Given the description of an element on the screen output the (x, y) to click on. 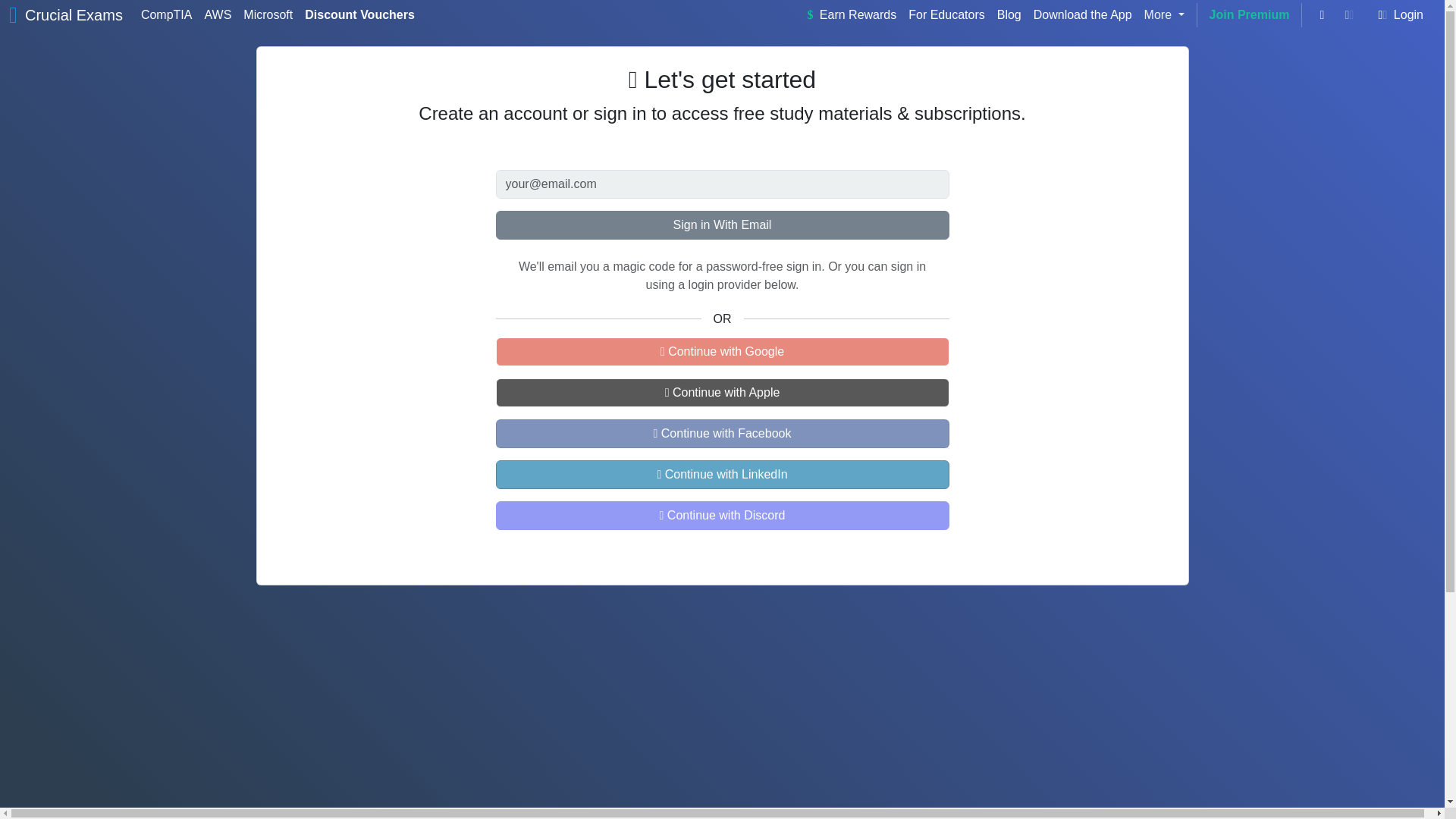
Discount Vouchers (359, 15)
Log in using your LinkedIn account (722, 474)
Download the App (1082, 15)
AWS (217, 15)
PMP Ready (719, 818)
Crucial Exams (73, 14)
Continue with Discord (722, 515)
subscriptions (967, 113)
Continue with LinkedIn (722, 474)
Microsoft (267, 15)
Sign in With Email (722, 224)
Blog (1009, 15)
Login (1398, 15)
More (1164, 15)
Log in using your Discord account (722, 515)
